Given the description of an element on the screen output the (x, y) to click on. 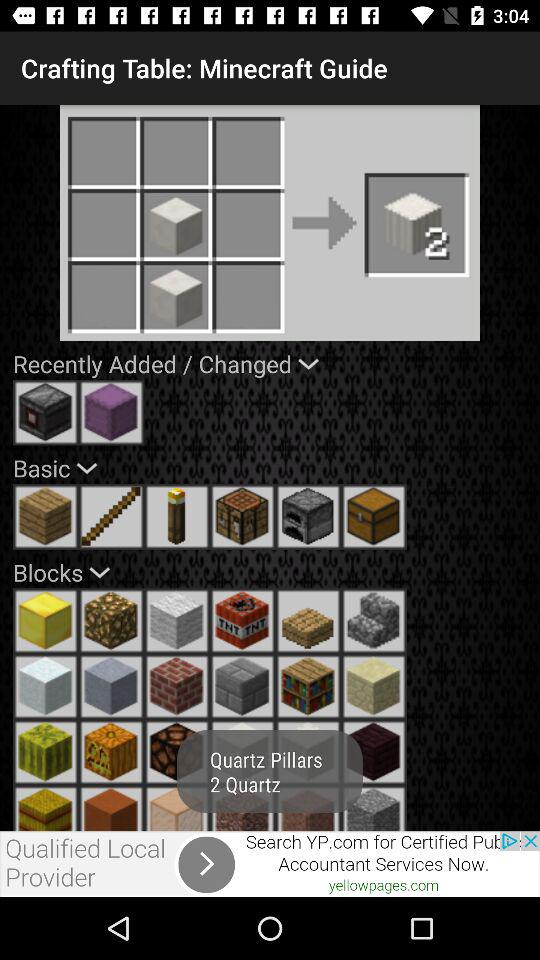
choose quartz pillars (177, 808)
